Given the description of an element on the screen output the (x, y) to click on. 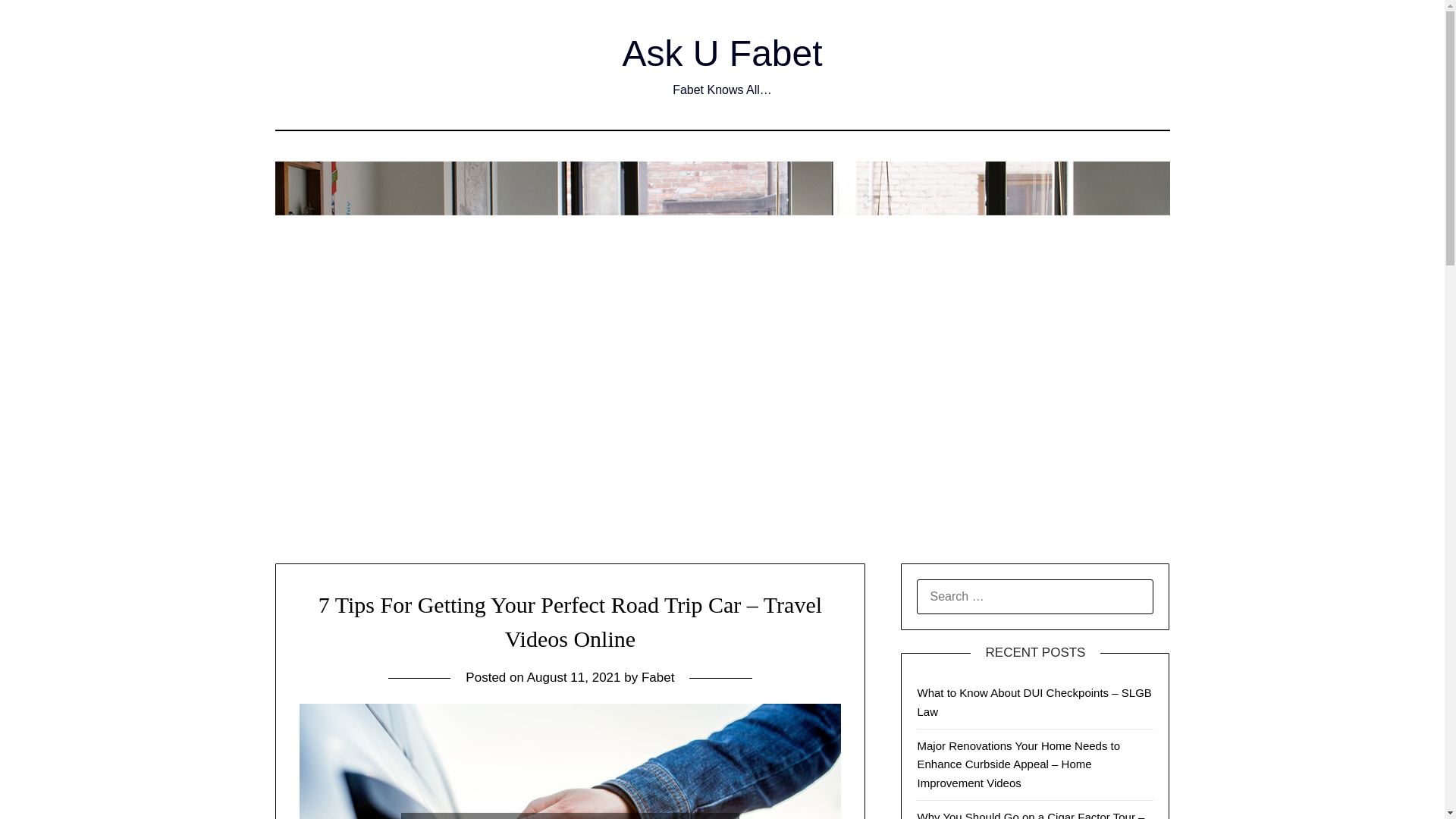
Search (38, 22)
Fabet (658, 677)
Ask U Fabet (721, 53)
August 11, 2021 (574, 677)
